Given the description of an element on the screen output the (x, y) to click on. 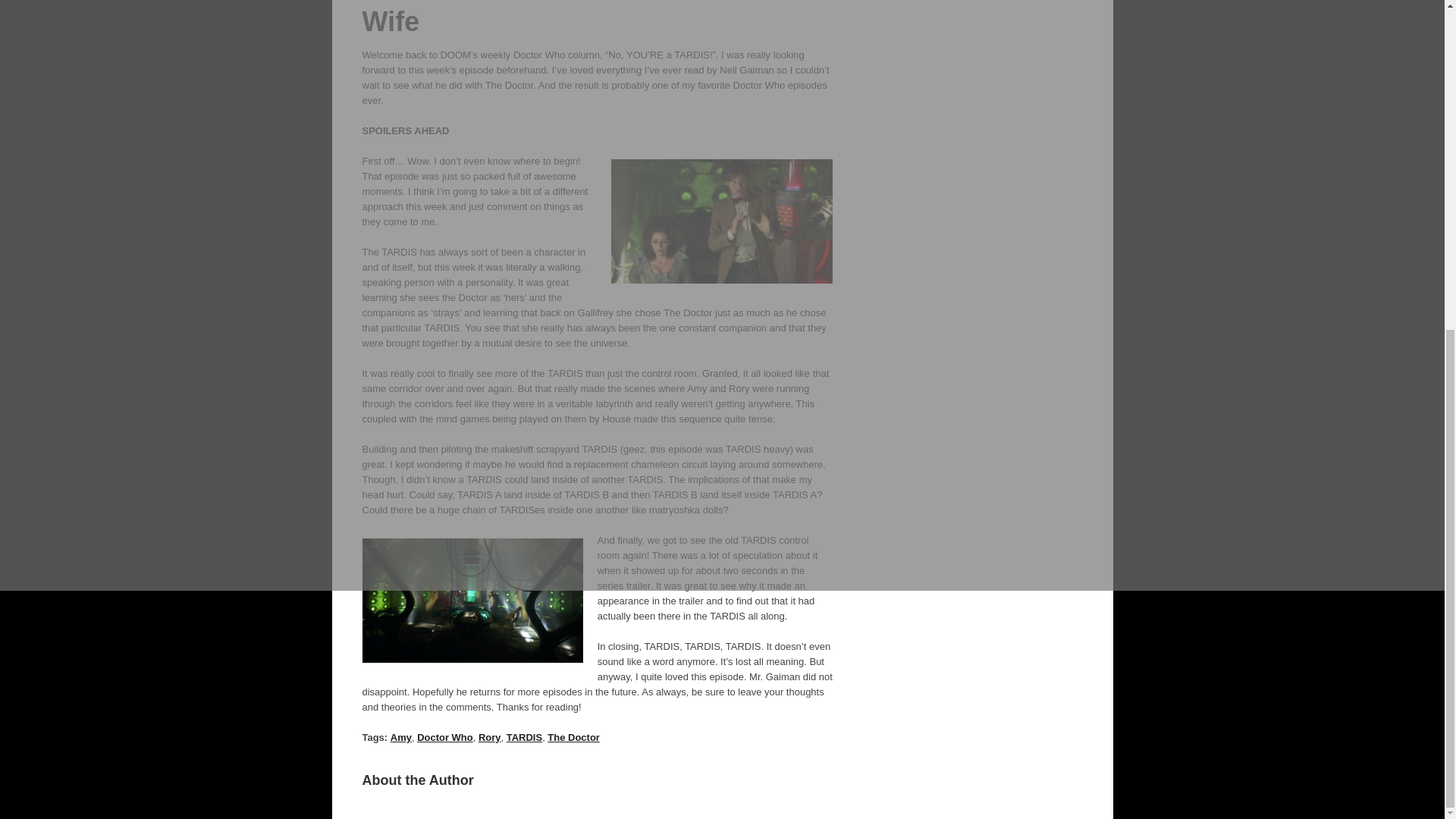
Doctor Who (444, 737)
TARDIS (523, 737)
Amy (401, 737)
The Doctor (573, 737)
Rory (489, 737)
